Given the description of an element on the screen output the (x, y) to click on. 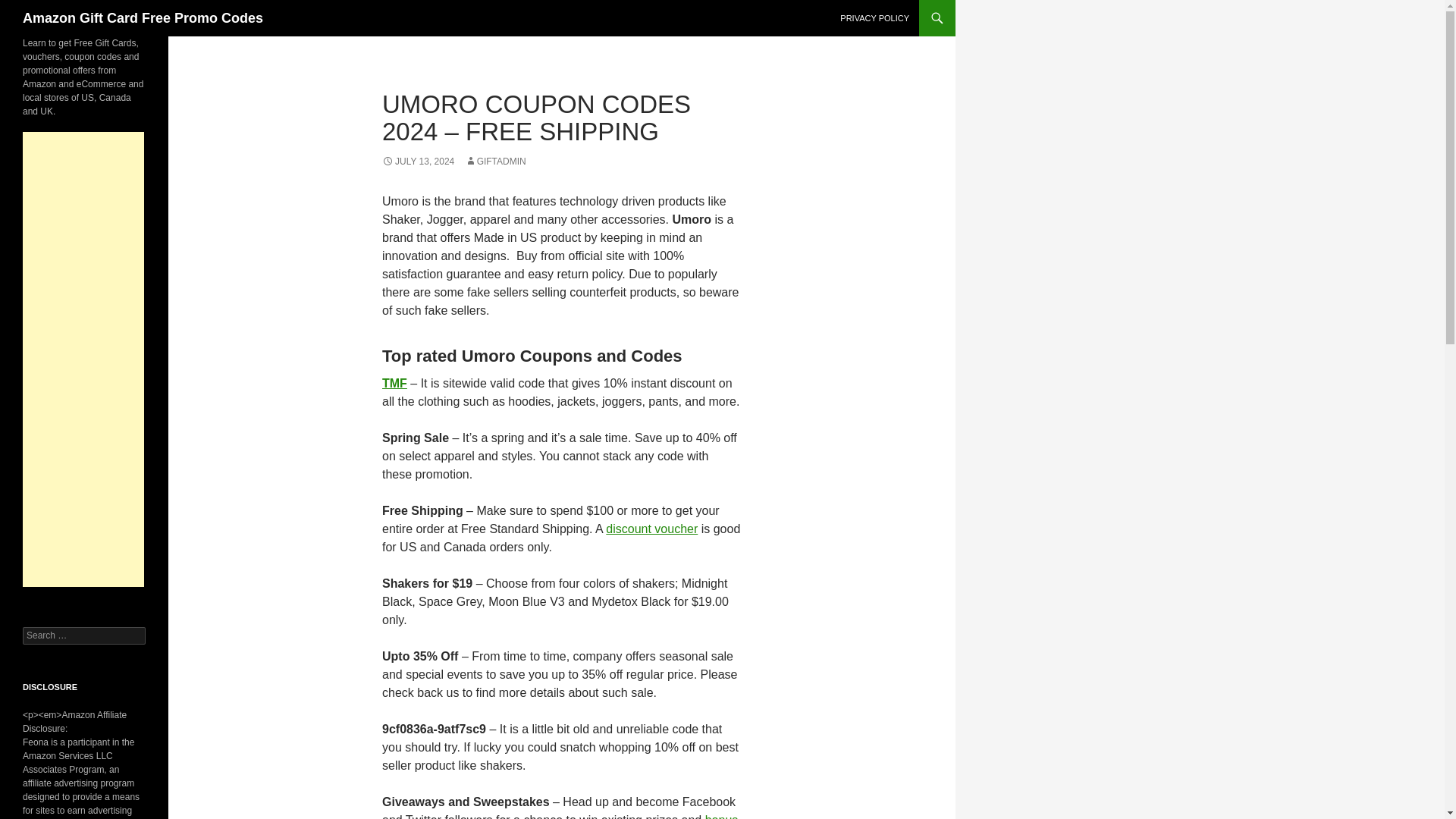
discount voucher (651, 528)
Amazon Gift Card Free Promo Codes (143, 18)
JULY 13, 2024 (417, 161)
GIFTADMIN (494, 161)
TMF (394, 382)
Search (30, 8)
PRIVACY POLICY (874, 18)
bonus rewards (559, 816)
